Given the description of an element on the screen output the (x, y) to click on. 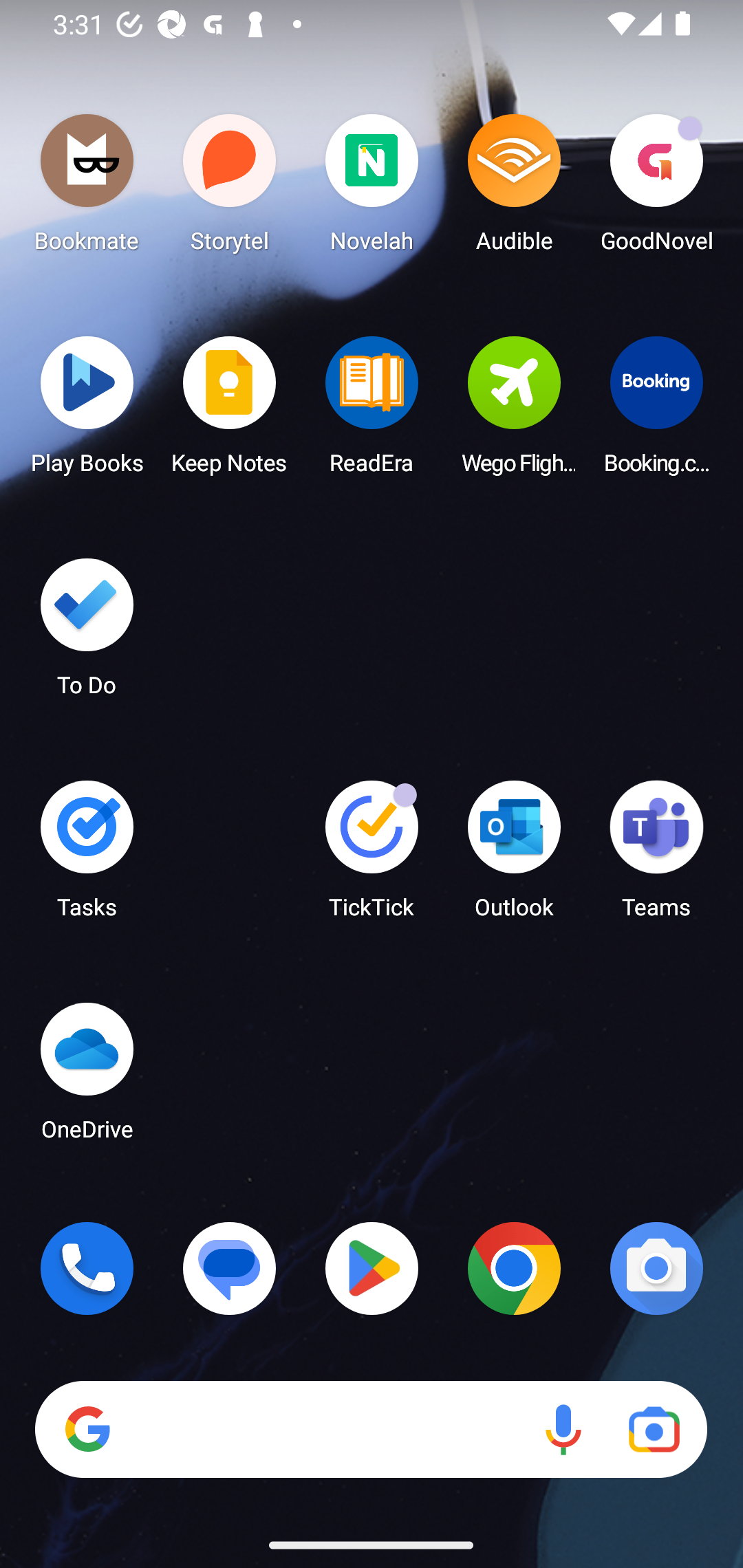
Bookmate (86, 188)
Storytel (229, 188)
Novelah (371, 188)
Audible (513, 188)
GoodNovel GoodNovel has 1 notification (656, 188)
Play Books (86, 410)
Keep Notes (229, 410)
ReadEra (371, 410)
Wego Flights & Hotels (513, 410)
Booking.com (656, 410)
To Do (86, 633)
Tasks (86, 854)
TickTick TickTick has 3 notifications (371, 854)
Outlook (513, 854)
Teams (656, 854)
OneDrive (86, 1076)
Phone (86, 1268)
Messages (229, 1268)
Play Store (371, 1268)
Chrome (513, 1268)
Camera (656, 1268)
Search Voice search Google Lens (370, 1429)
Voice search (562, 1429)
Google Lens (653, 1429)
